Given the description of an element on the screen output the (x, y) to click on. 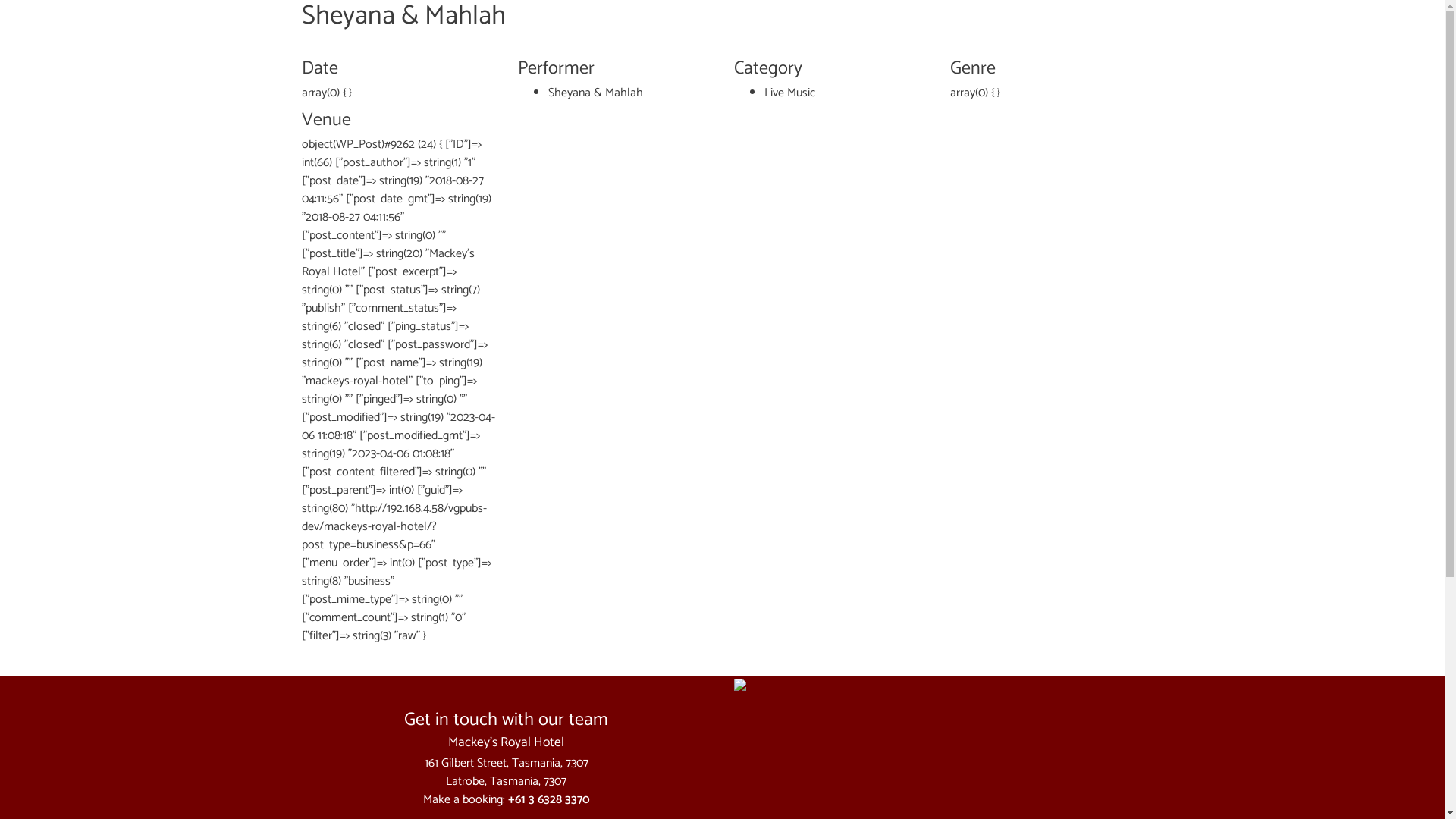
Google Maps Element type: hover (938, 684)
+61 3 6328 3370 Element type: text (548, 799)
